Given the description of an element on the screen output the (x, y) to click on. 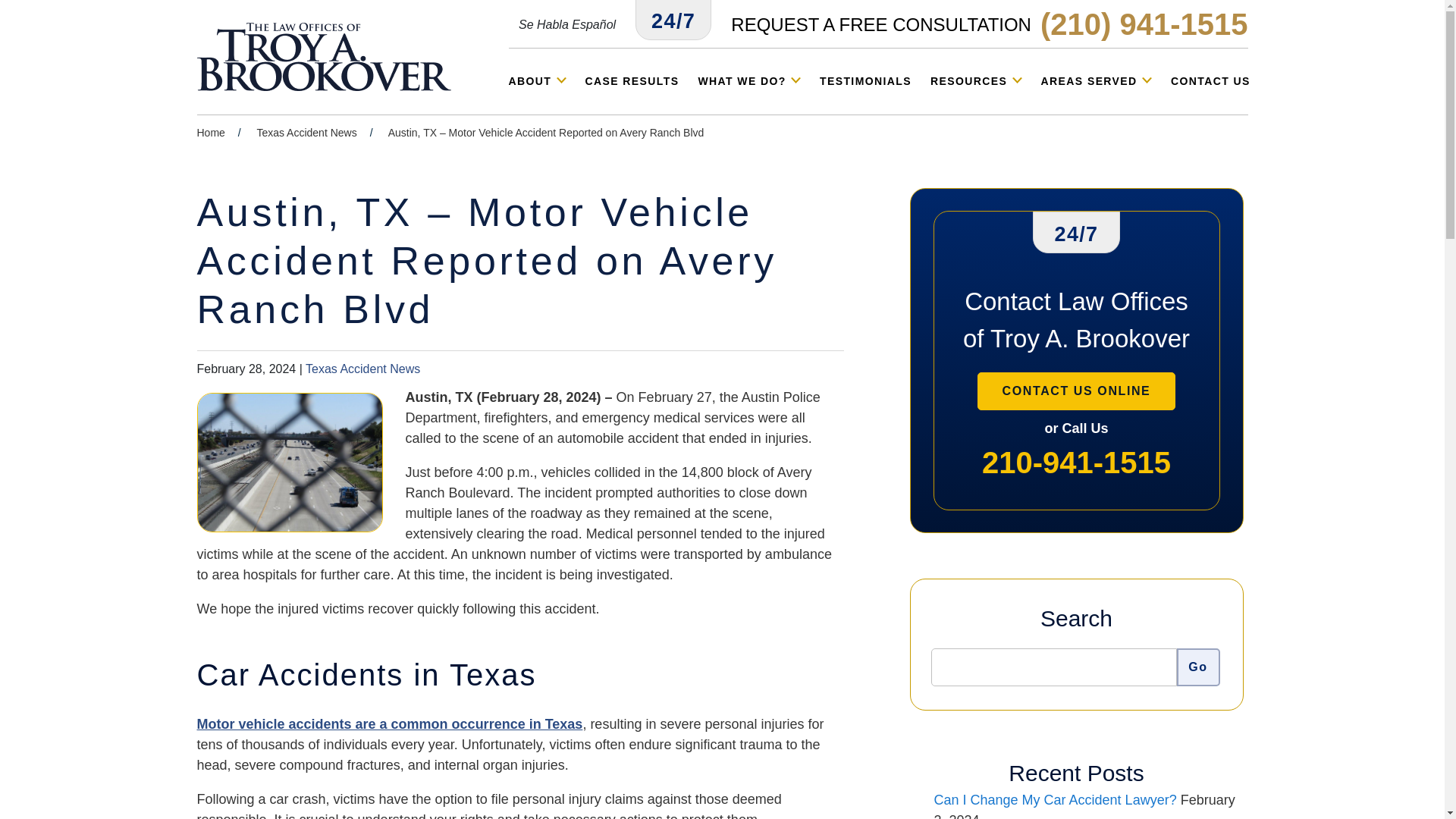
Case Results (632, 81)
About (537, 81)
Go (1198, 667)
What We Do? (748, 81)
